Given the description of an element on the screen output the (x, y) to click on. 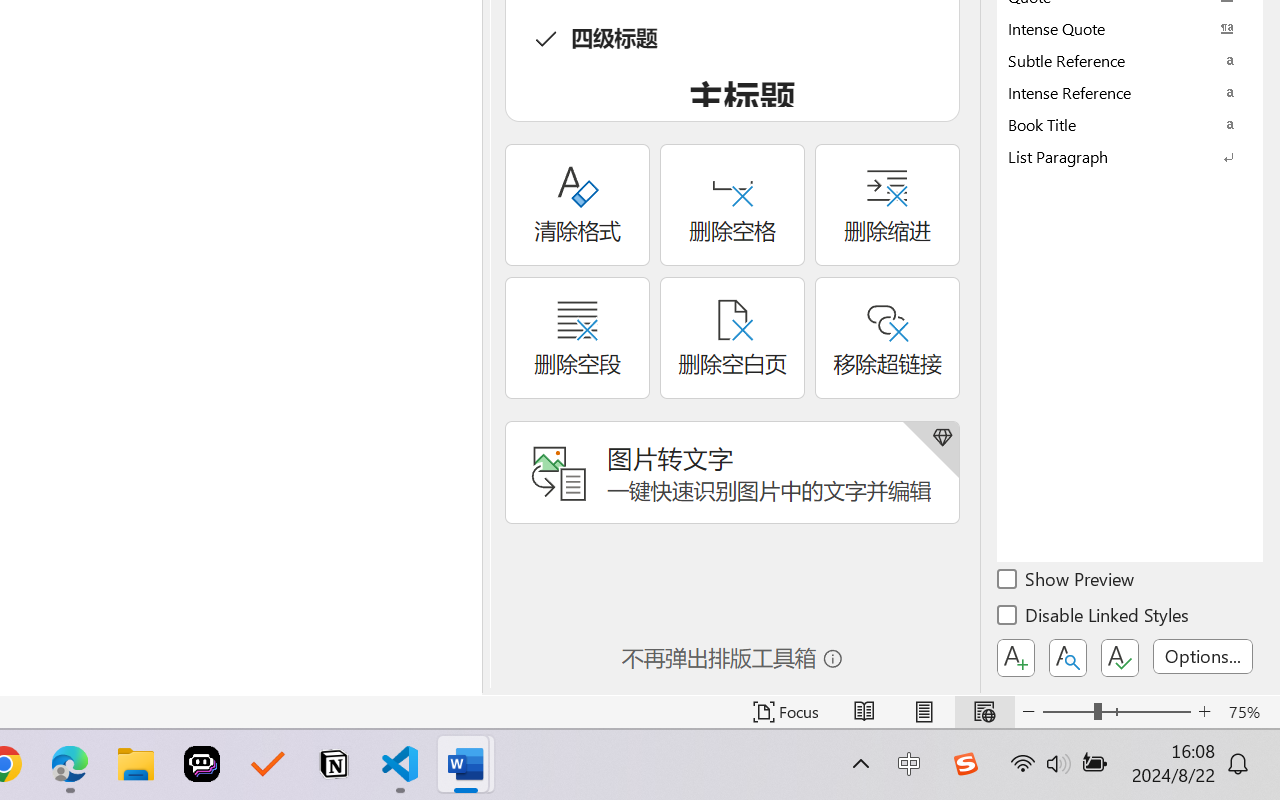
Options... (1203, 656)
Class: NetUIImage (1116, 156)
Class: NetUIButton (1119, 657)
Zoom In (1204, 712)
Print Layout (924, 712)
